Given the description of an element on the screen output the (x, y) to click on. 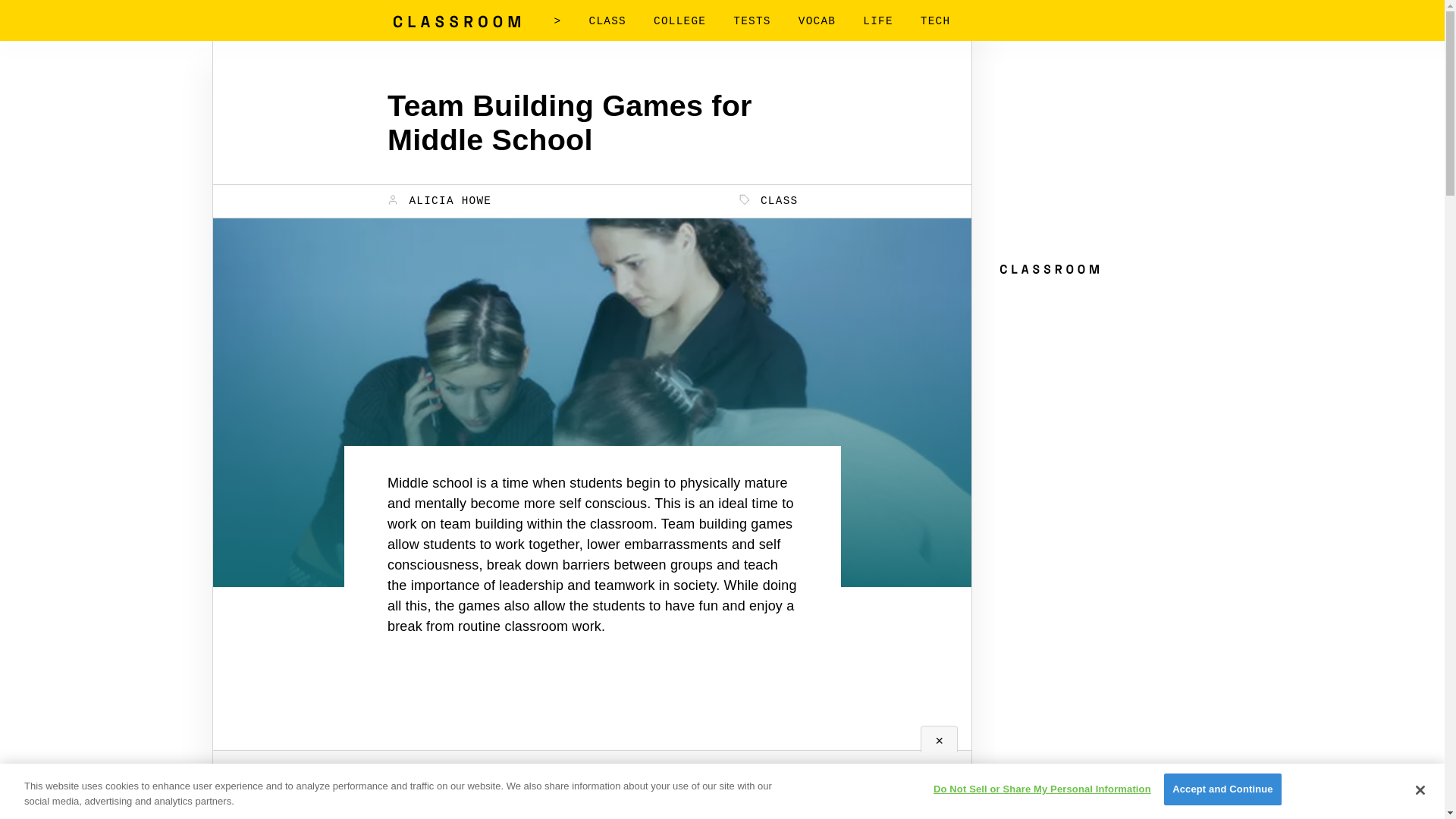
LIFE (878, 21)
3rd party ad content (1108, 376)
TESTS (751, 21)
TECH (935, 21)
CLASS (607, 21)
COLLEGE (679, 21)
3rd party ad content (1108, 158)
3rd party ad content (592, 755)
CLASS (768, 200)
VOCAB (816, 21)
